Given the description of an element on the screen output the (x, y) to click on. 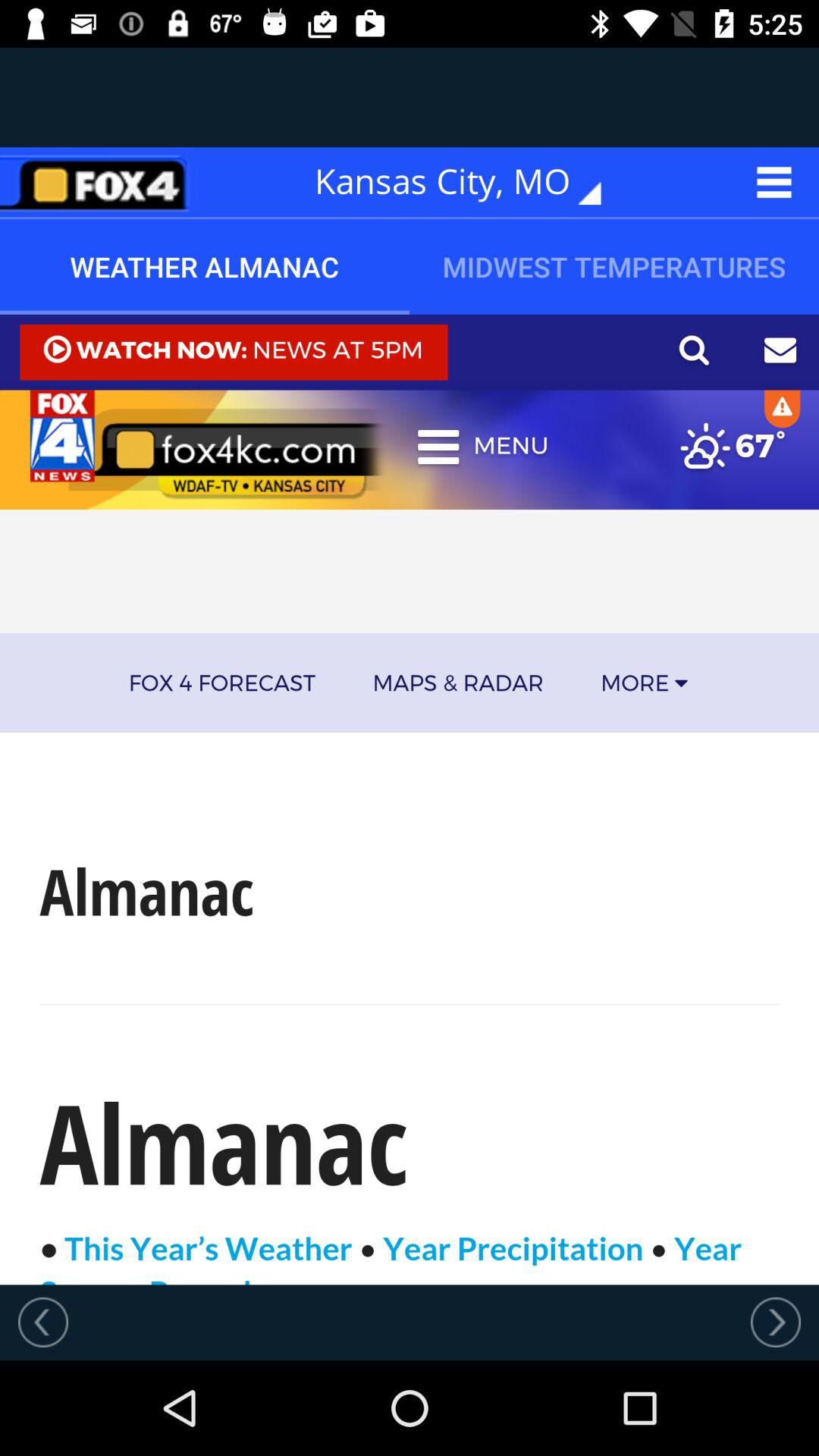
go to homepage (99, 182)
